Given the description of an element on the screen output the (x, y) to click on. 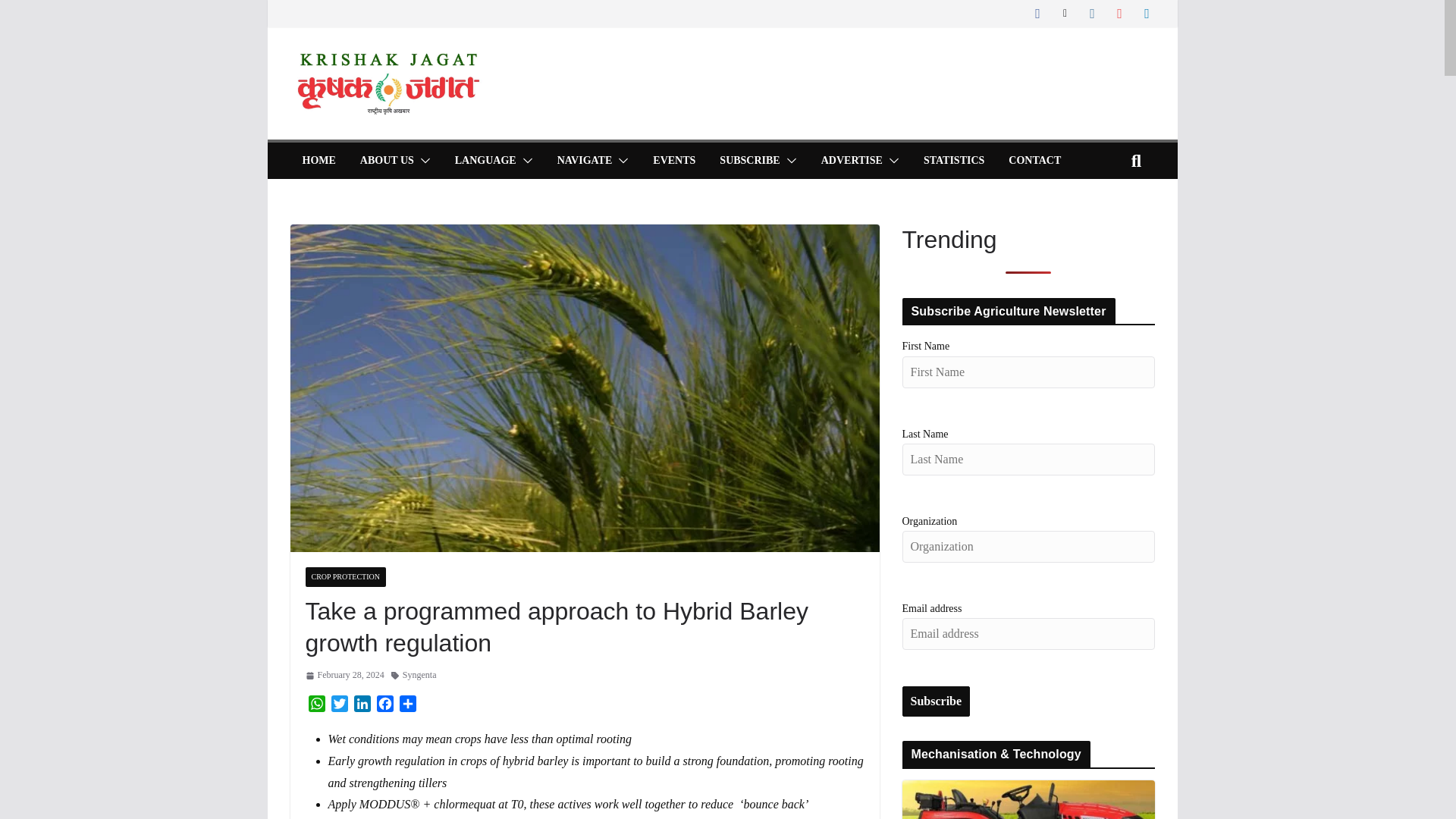
NAVIGATE (584, 160)
WhatsApp (315, 705)
ABOUT US (386, 160)
4:01 pm (344, 675)
Facebook (384, 705)
Twitter (338, 705)
LANGUAGE (485, 160)
Subscribe (936, 701)
HOME (317, 160)
LinkedIn (361, 705)
